Given the description of an element on the screen output the (x, y) to click on. 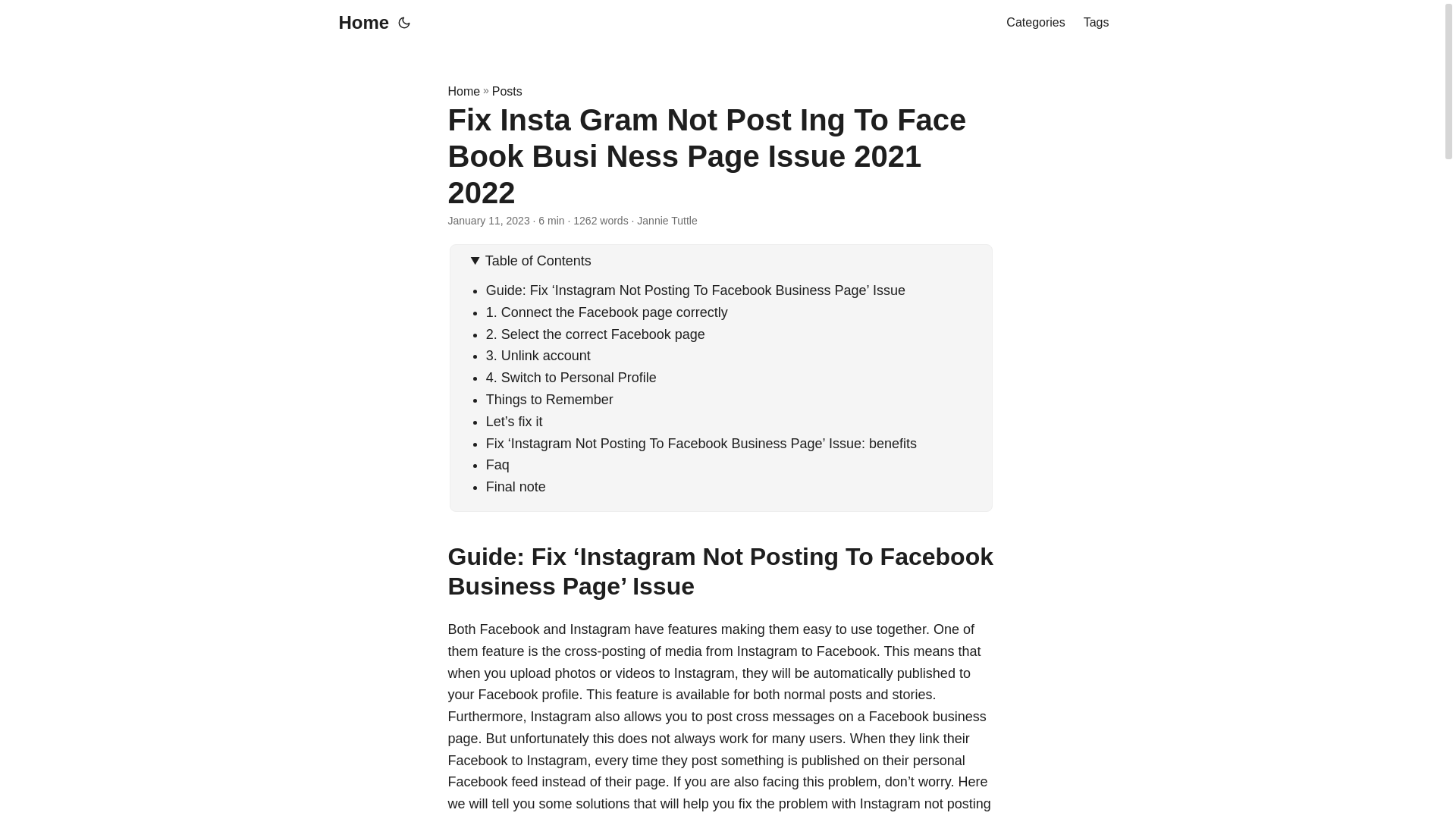
Final note (516, 486)
Things to Remember (549, 399)
Faq (497, 464)
Posts (507, 91)
1. Connect the Facebook page correctly (607, 312)
4. Switch to Personal Profile (571, 377)
Home (359, 22)
Categories (1035, 22)
Home (463, 91)
Categories (1035, 22)
